Given the description of an element on the screen output the (x, y) to click on. 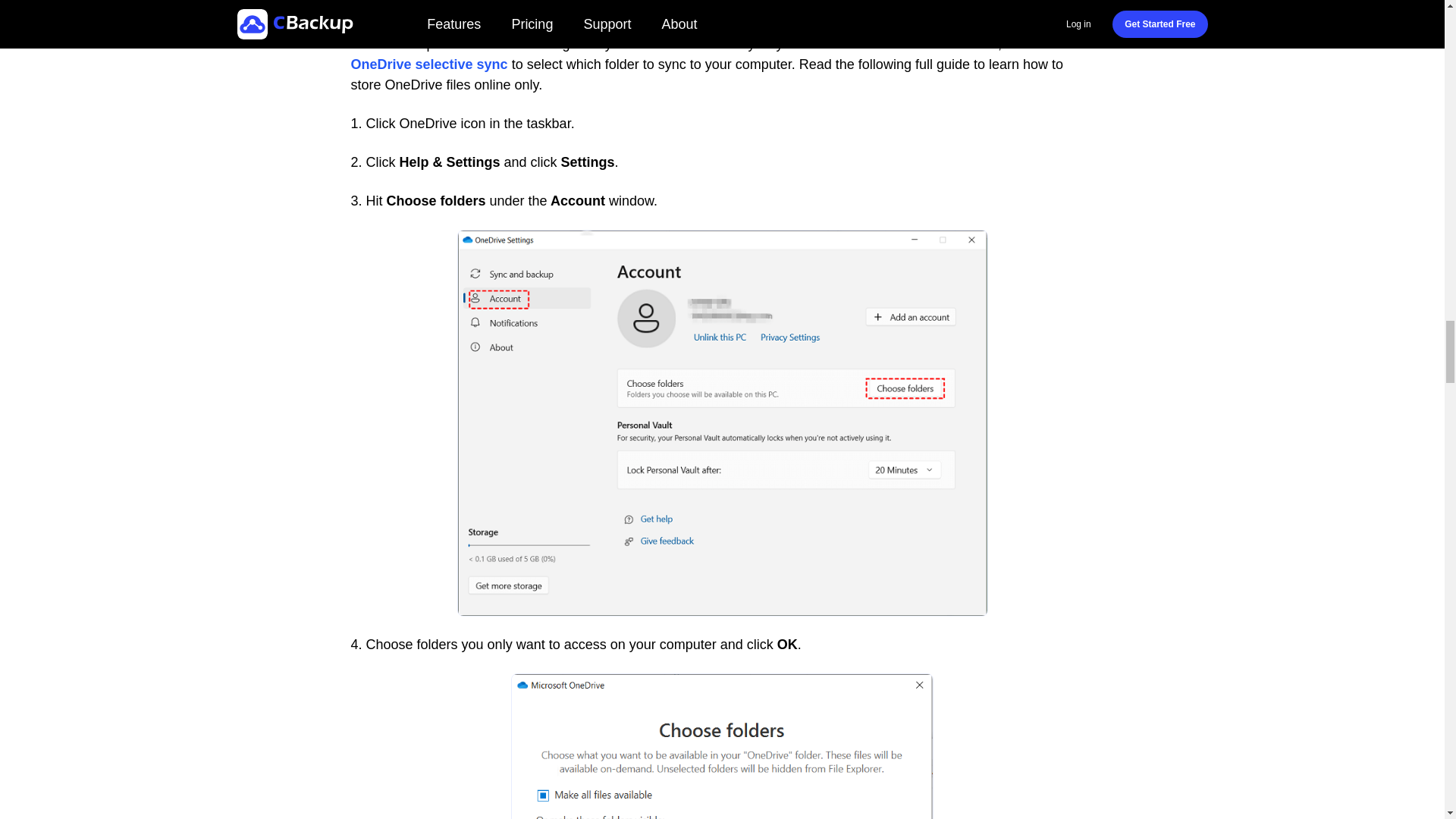
OneDrive selective sync (428, 64)
